Given the description of an element on the screen output the (x, y) to click on. 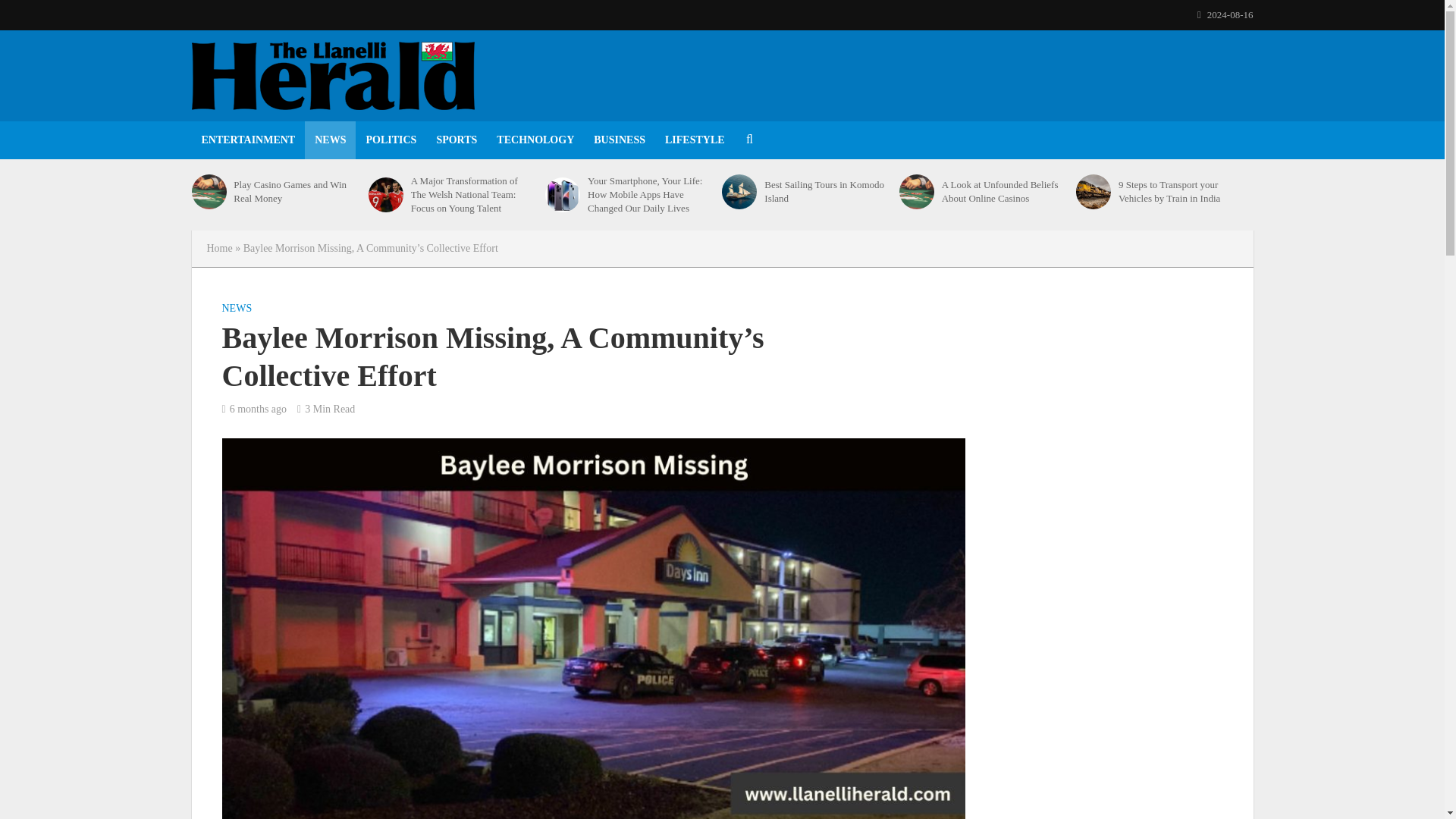
LIFESTYLE (695, 139)
A Look at Unfounded Beliefs About Online Casinos (1003, 191)
ENTERTAINMENT (247, 139)
TECHNOLOGY (534, 139)
Play Casino Games and Win Real Money (207, 191)
NEWS (236, 310)
BUSINESS (619, 139)
9 Steps to Transport your Vehicles by Train in India (1092, 191)
NEWS (329, 139)
